Given the description of an element on the screen output the (x, y) to click on. 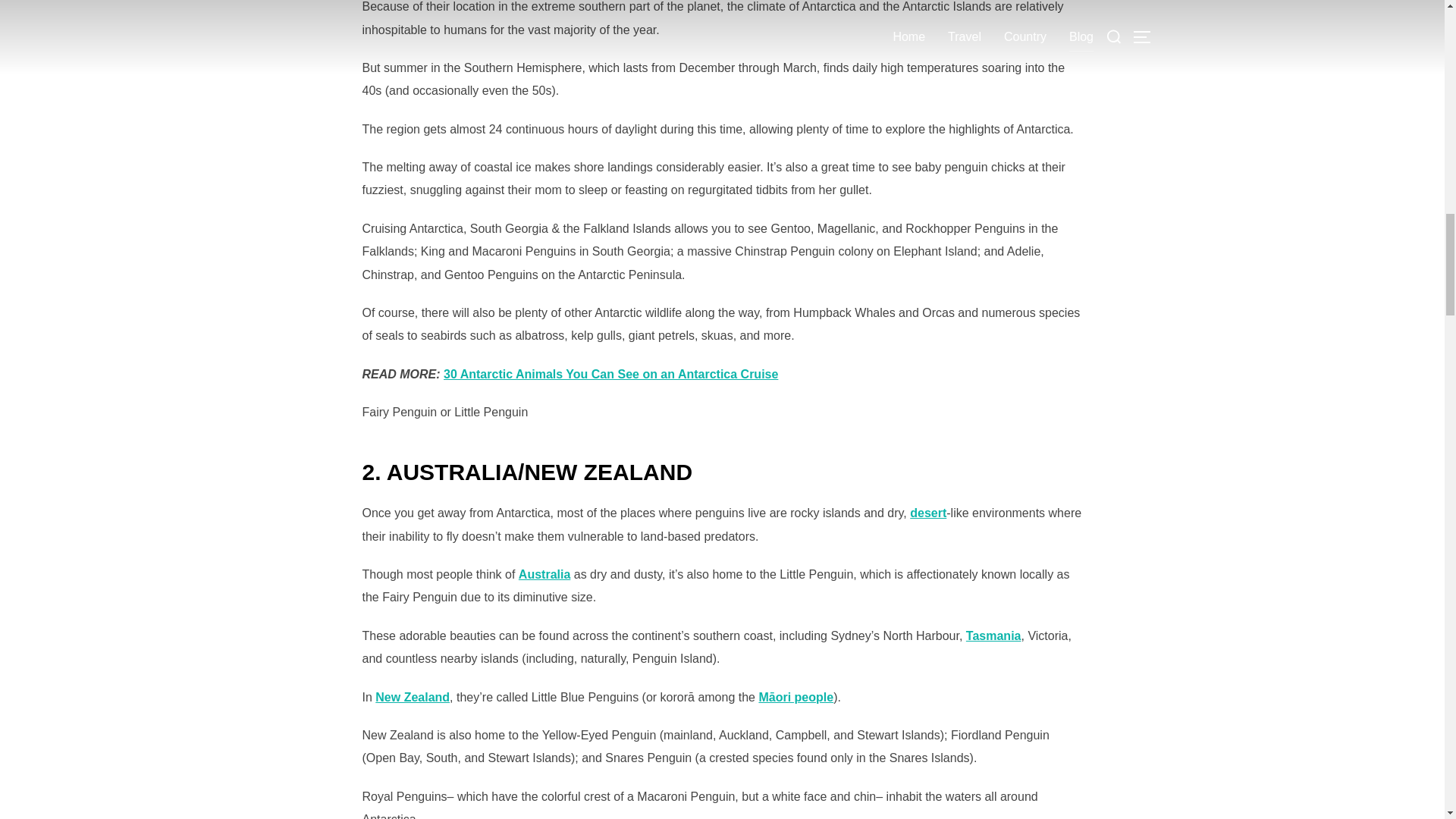
New Zealand (412, 697)
30 Antarctic Animals You Can See on an Antarctica Cruise (610, 373)
Australia (544, 574)
Tasmania (994, 635)
desert (928, 512)
